Given the description of an element on the screen output the (x, y) to click on. 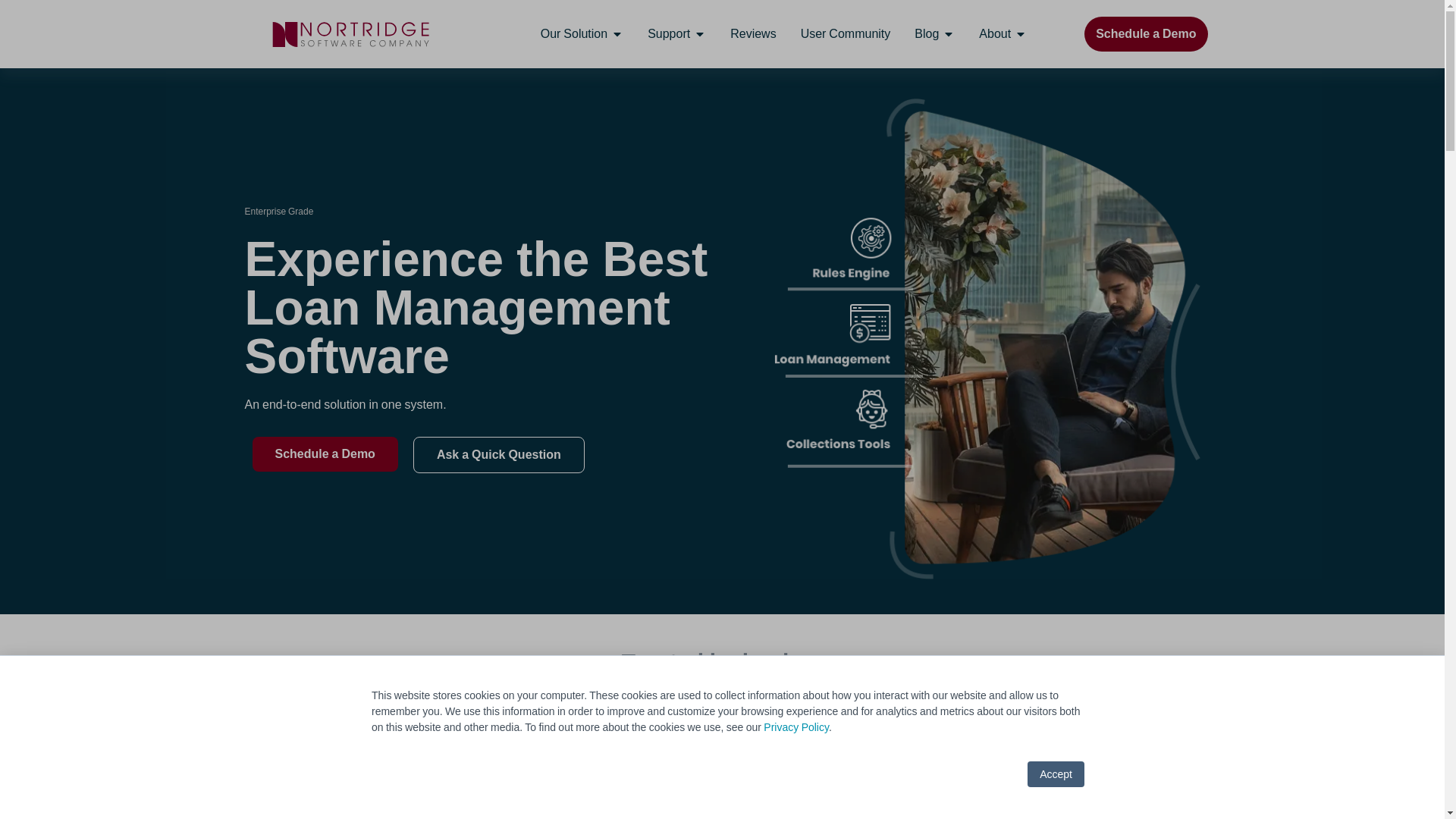
User Community (845, 34)
Reviews (753, 34)
Blog (926, 34)
